Given the description of an element on the screen output the (x, y) to click on. 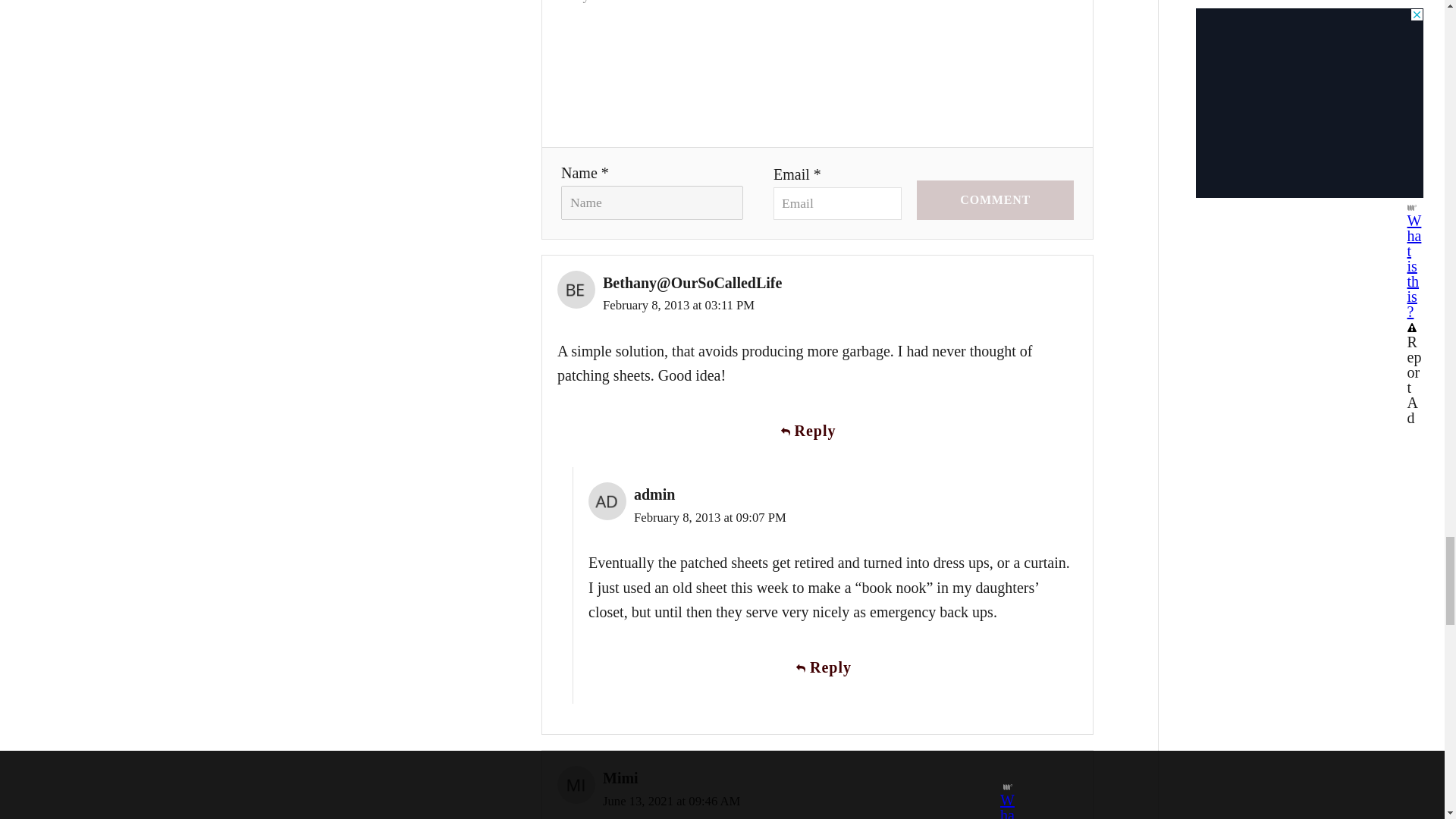
Reply (832, 667)
COMMENT (995, 200)
Reply (817, 430)
